Given the description of an element on the screen output the (x, y) to click on. 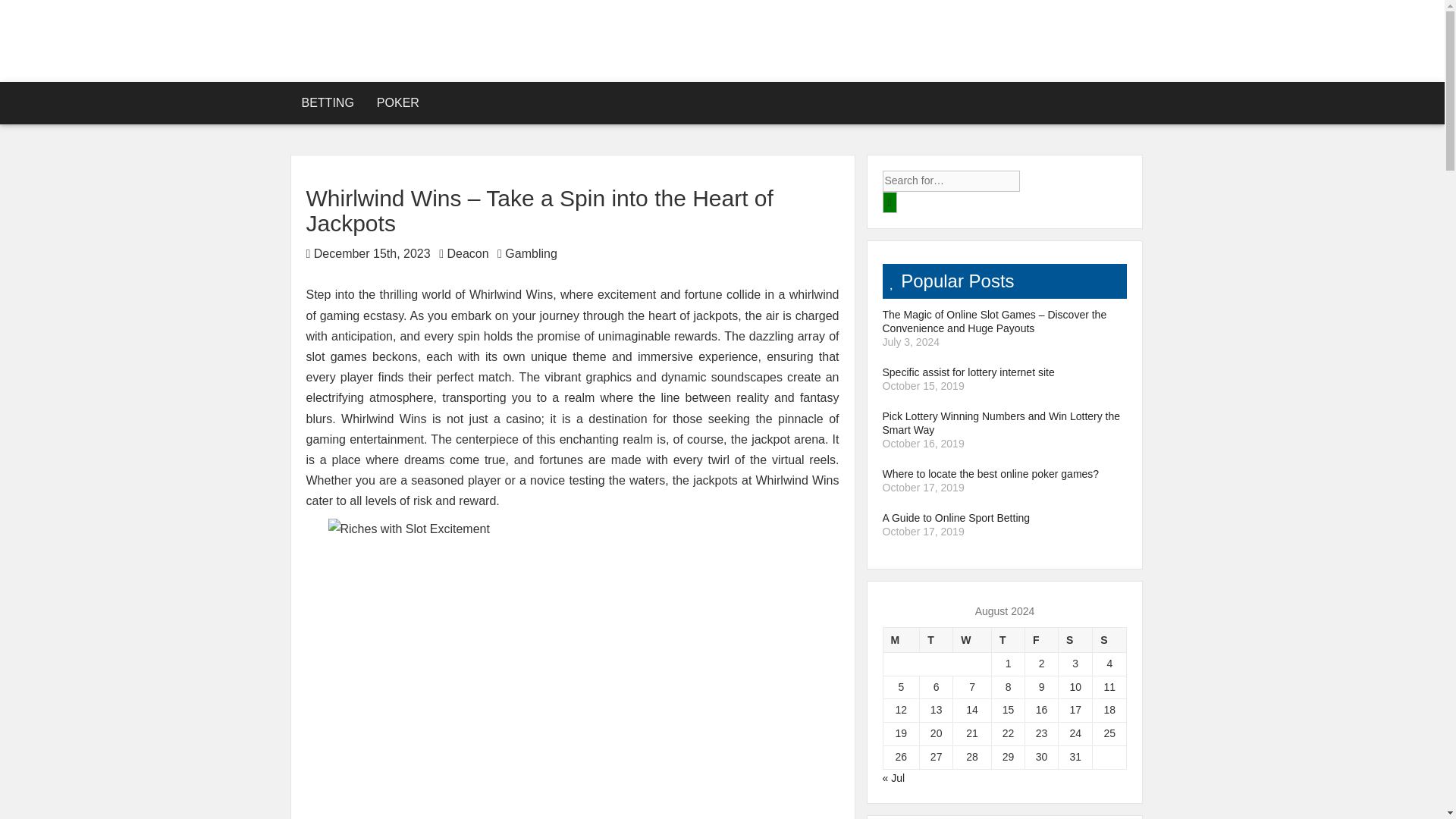
POKER (397, 102)
Gambling (530, 253)
Deacon (466, 253)
Wednesday (972, 639)
BETTING (327, 102)
Tuesday (936, 639)
Pick Lottery Winning Numbers and Win Lottery the Smart Way (1004, 422)
Where to locate the best online poker games? (1004, 473)
Saturday (1075, 639)
Thursday (1008, 639)
Sunday (1109, 639)
A Guide to Online Sport Betting (1004, 517)
Specific assist for lottery internet site (1004, 372)
Monday (901, 639)
Friday (1041, 639)
